Given the description of an element on the screen output the (x, y) to click on. 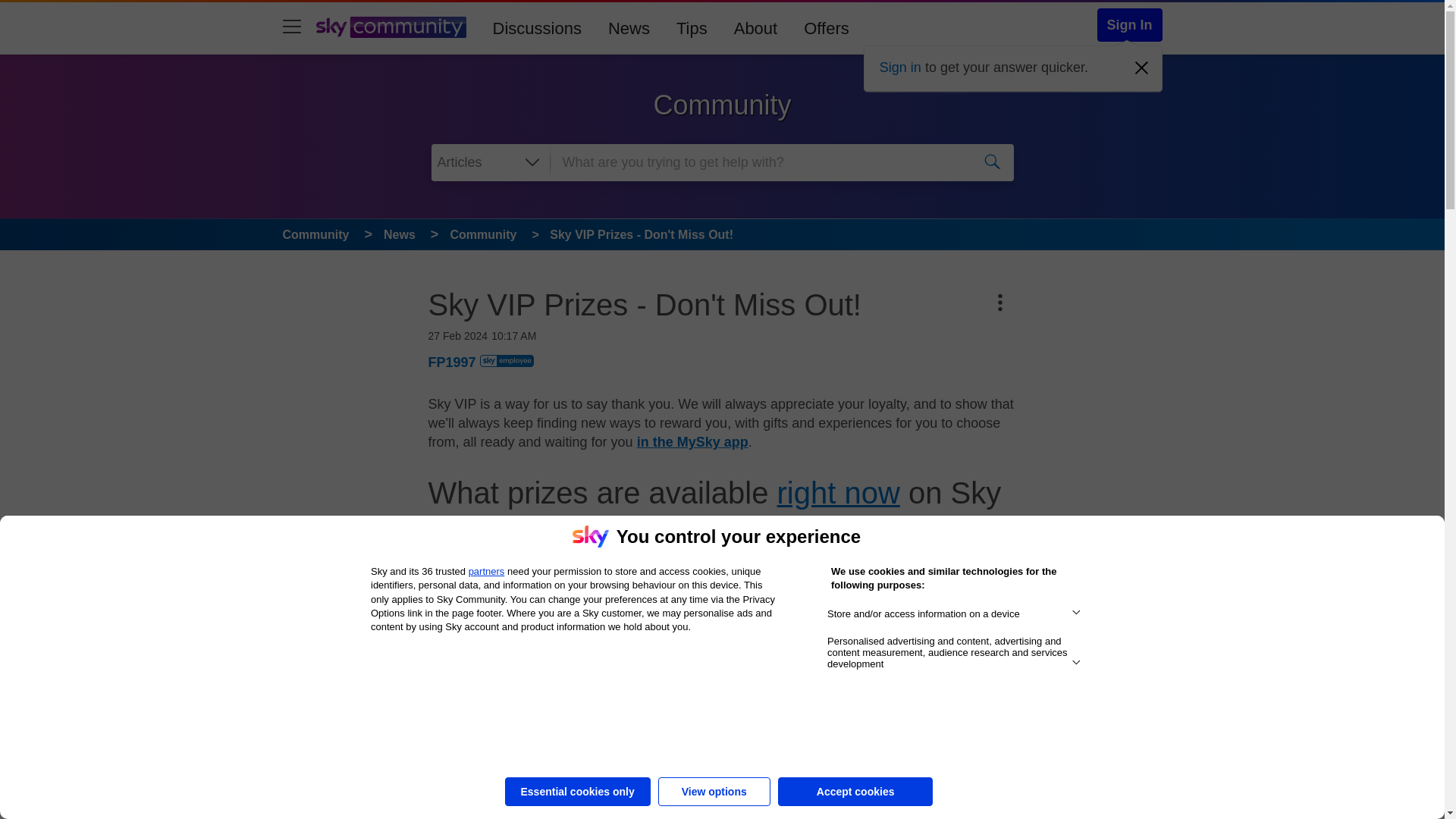
Sign In (1128, 24)
News (399, 234)
in the MySky app (692, 441)
Discussions (536, 27)
Sign in (900, 67)
Community (315, 234)
Community (482, 234)
FP1997 (452, 362)
Posted on (697, 334)
Search (992, 161)
